Given the description of an element on the screen output the (x, y) to click on. 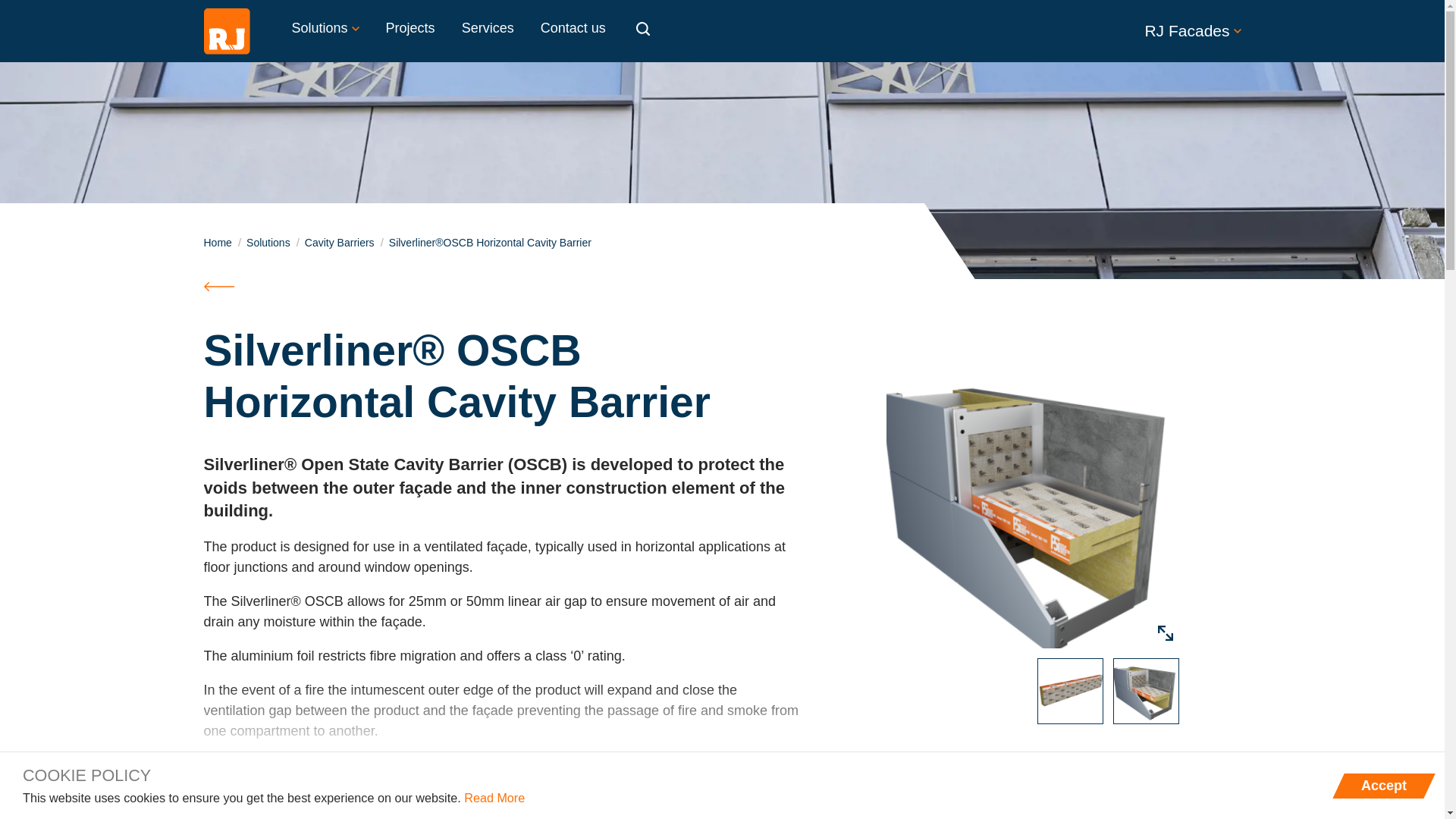
Solutions (267, 242)
Cavity Barriers (339, 242)
Projects (410, 28)
Home (217, 242)
RJ Facades - Smart Fixing Solutions (225, 30)
Contact us (573, 28)
Solutions (326, 28)
RJ Facades (1119, 31)
Services (487, 28)
Cookie Policy (494, 797)
